Given the description of an element on the screen output the (x, y) to click on. 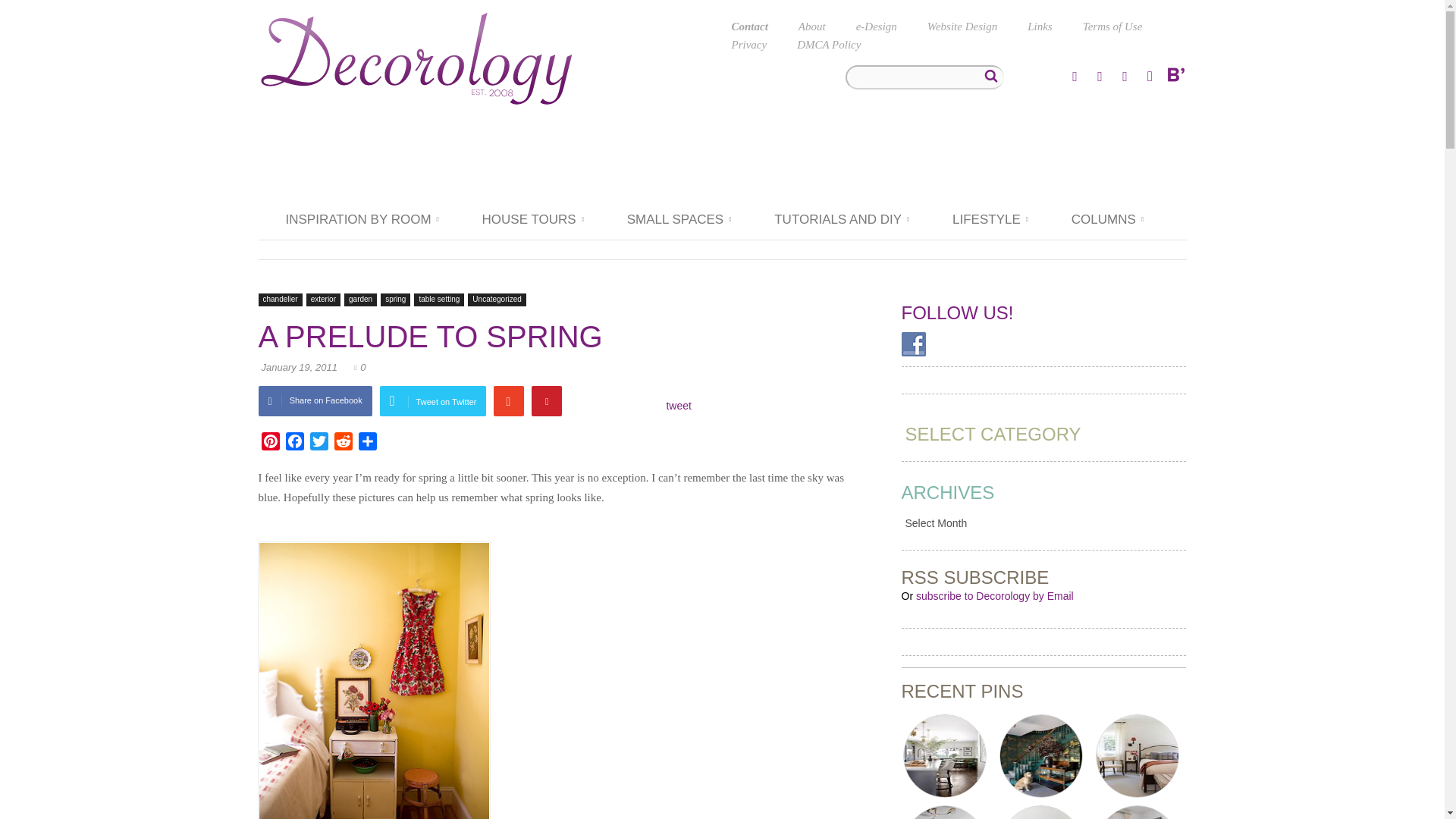
Instagram (1100, 75)
Search (991, 75)
Contact (748, 26)
INSPIRATION BY ROOM (355, 219)
Website Design (962, 26)
DMCA Policy (828, 44)
Privacy (748, 44)
Pinterest (1124, 75)
Bloglovin' (1176, 73)
Facebook (1074, 75)
Decorology (415, 104)
Twitter (1152, 75)
e-Design (876, 26)
About (811, 26)
Terms of Use (1112, 26)
